Given the description of an element on the screen output the (x, y) to click on. 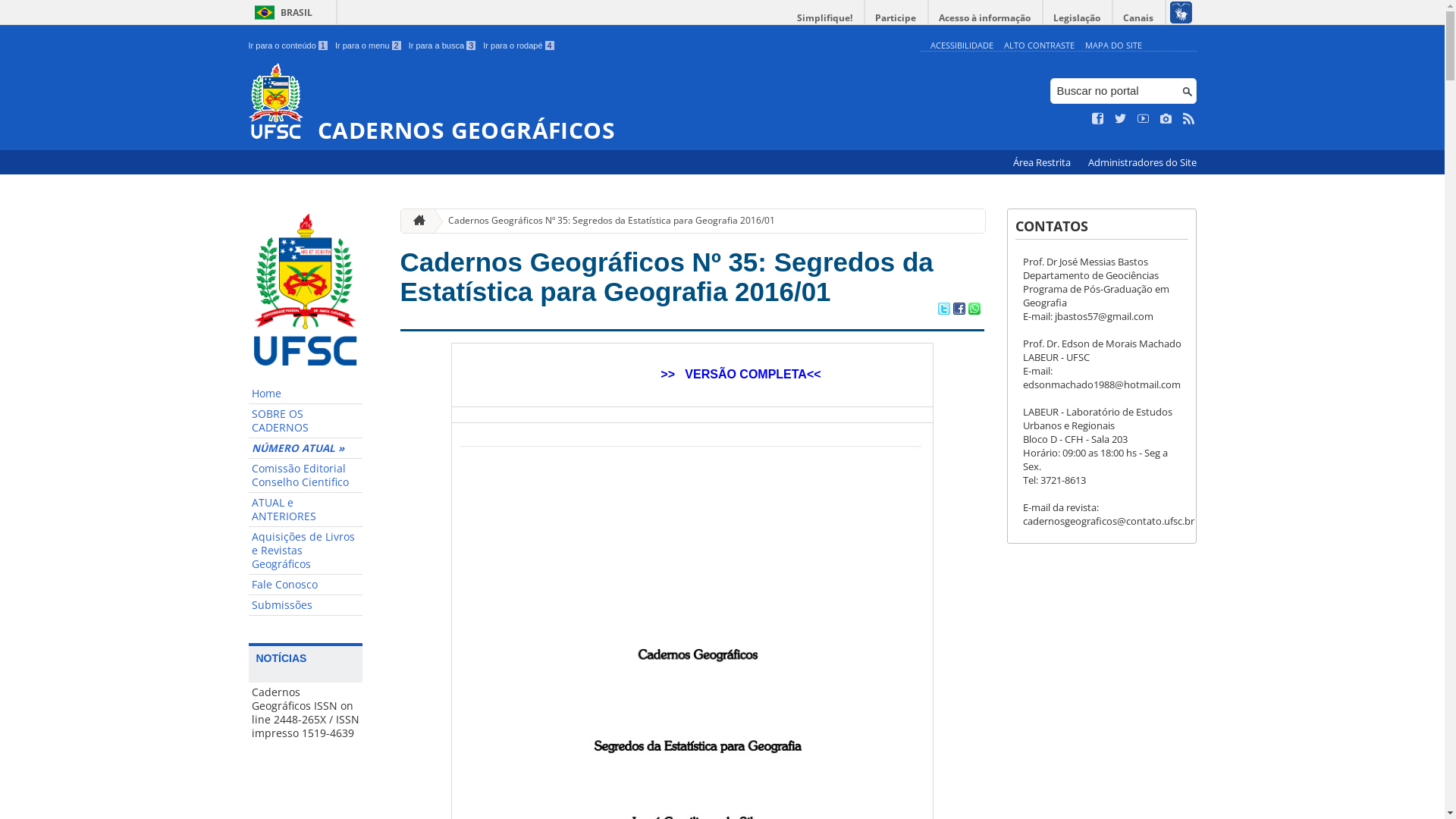
Fale Conosco Element type: text (305, 584)
Simplifique! Element type: text (825, 18)
Compartilhar no Facebook Element type: hover (958, 309)
ATUAL e ANTERIORES Element type: text (305, 509)
Siga no Twitter Element type: hover (1120, 118)
Ir para o menu 2 Element type: text (368, 45)
Canais Element type: text (1138, 18)
ALTO CONTRASTE Element type: text (1039, 44)
Curta no Facebook Element type: hover (1098, 118)
SOBRE OS CADERNOS Element type: text (305, 421)
Veja no Instagram Element type: hover (1166, 118)
BRASIL Element type: text (280, 12)
MAPA DO SITE Element type: text (1112, 44)
Ir para a busca 3 Element type: text (442, 45)
Compartilhar no WhatsApp Element type: hover (973, 309)
Compartilhar no Twitter Element type: hover (943, 309)
Participe Element type: text (895, 18)
Home Element type: text (305, 393)
Administradores do Site Element type: text (1141, 162)
ACESSIBILIDADE Element type: text (960, 44)
